Given the description of an element on the screen output the (x, y) to click on. 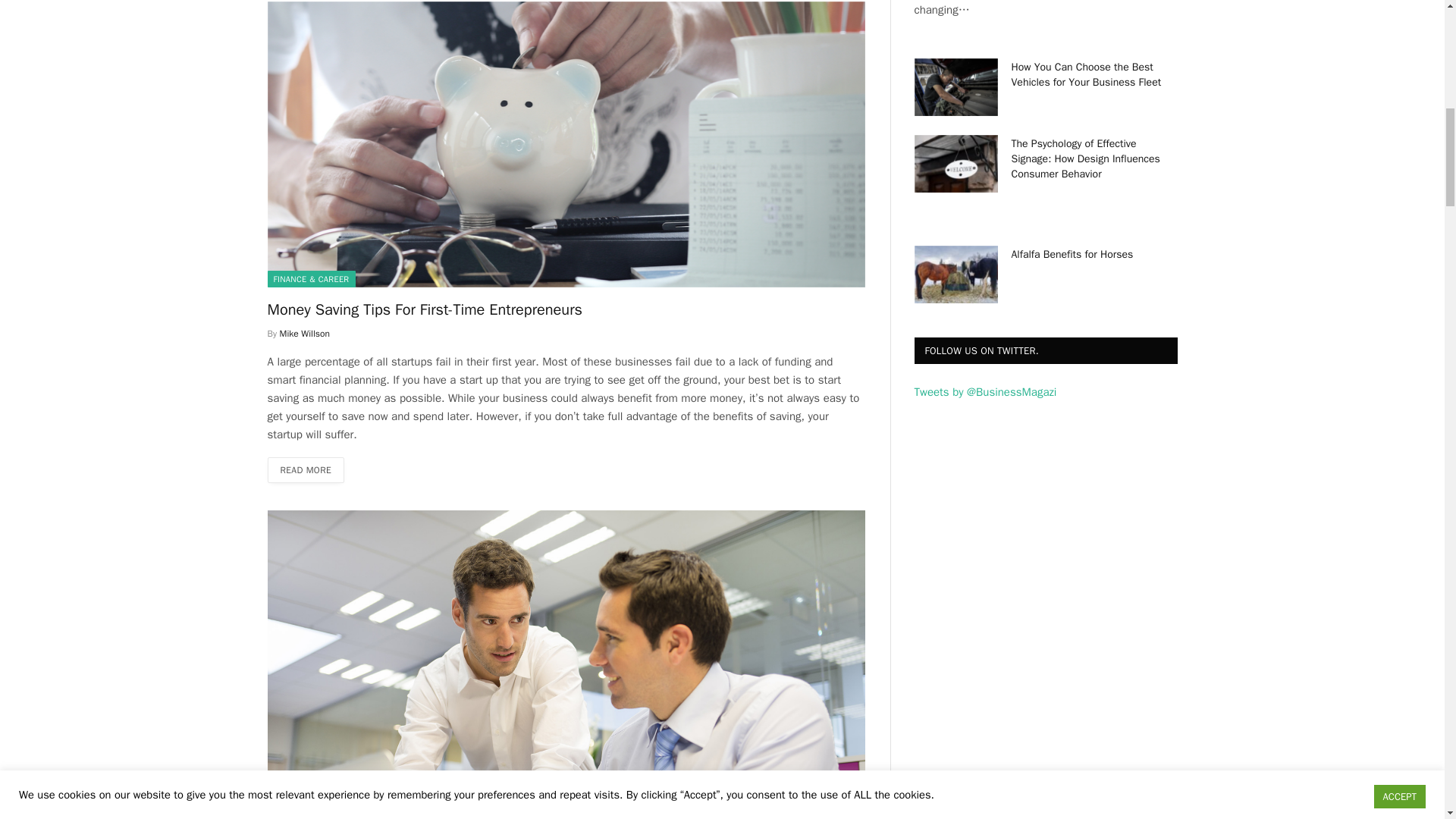
Money Saving Tips For First-Time Entrepreneurs (565, 308)
Posts by Mike Willson (304, 333)
Salary Sacrifice Scheme Administrators (565, 813)
BUSINESS (292, 787)
Mike Willson (304, 333)
READ MORE (304, 470)
